Given the description of an element on the screen output the (x, y) to click on. 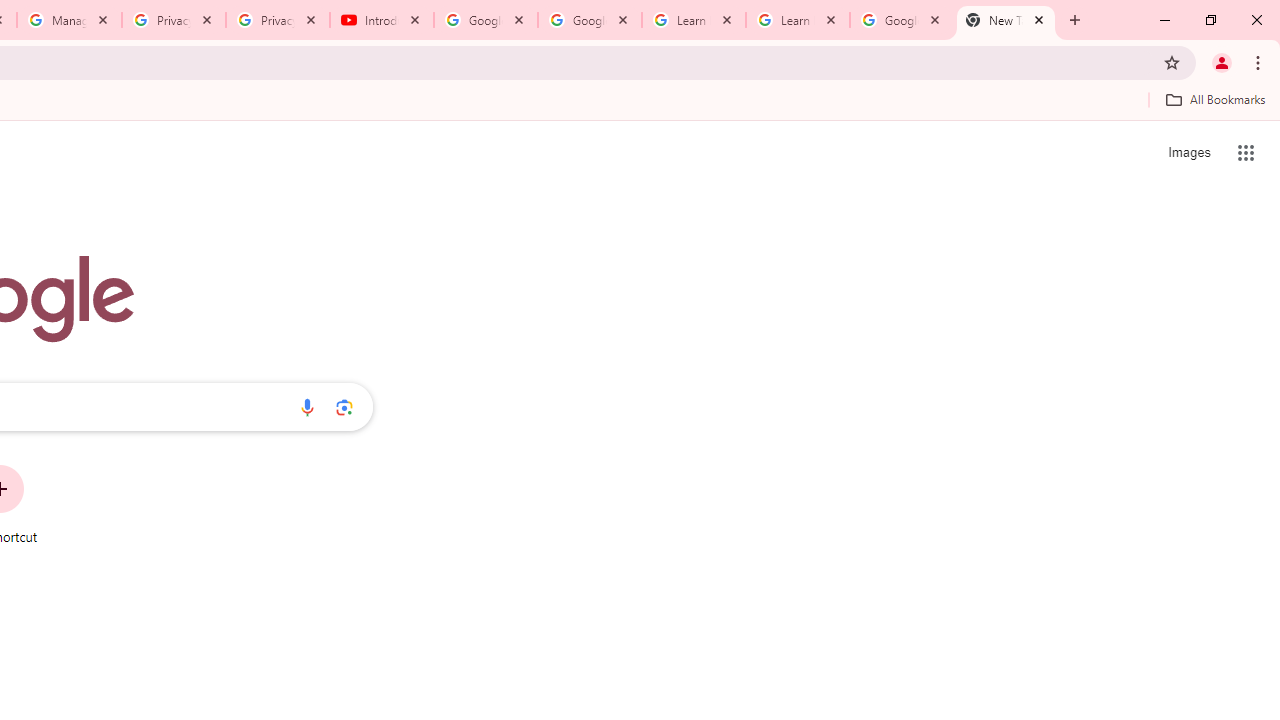
Introduction | Google Privacy Policy - YouTube (381, 20)
Search for Images  (1188, 152)
